Given the description of an element on the screen output the (x, y) to click on. 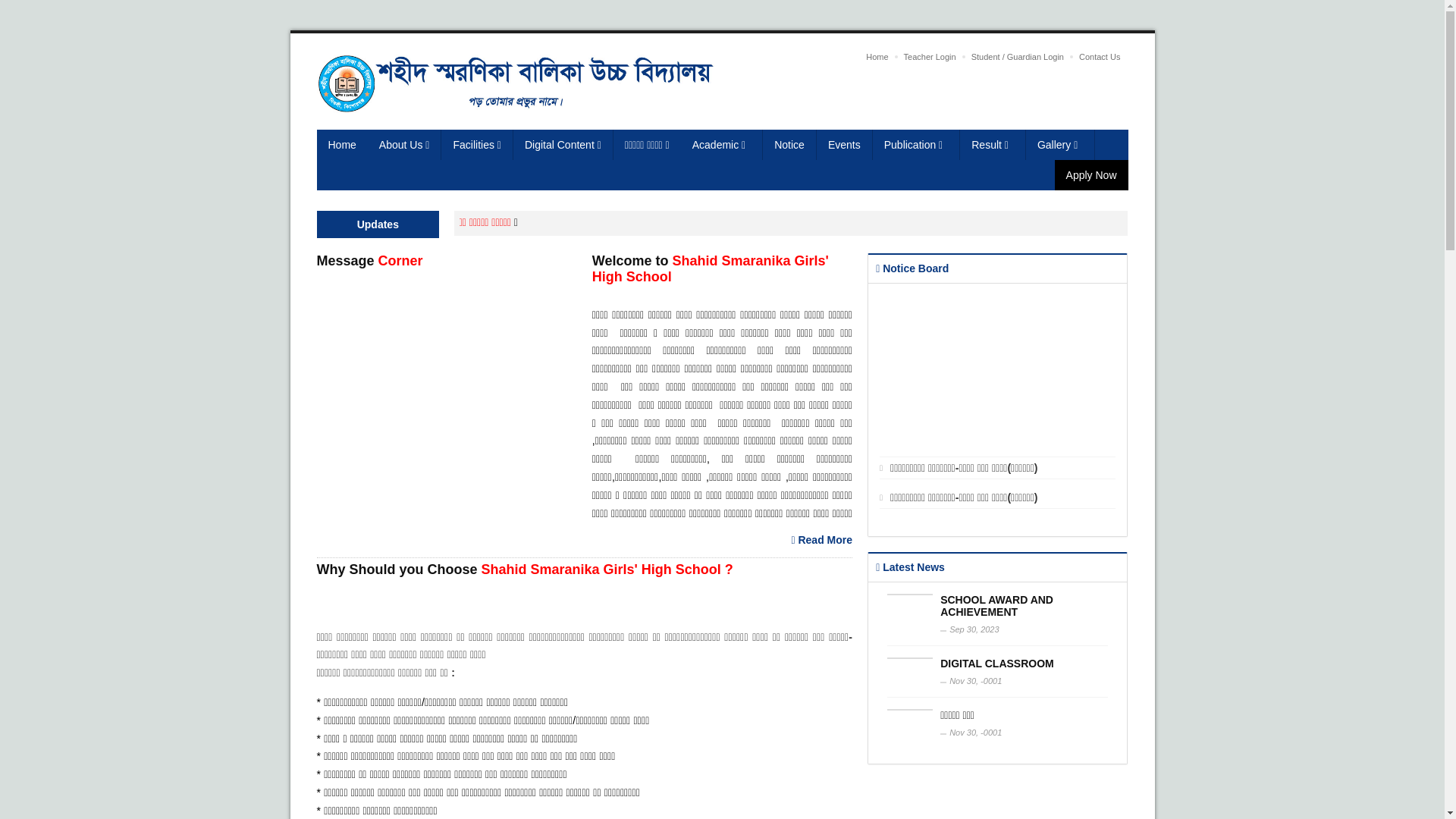
Contact Us Element type: text (1099, 56)
Student / Guardian Login Element type: text (1017, 56)
Academic Element type: text (721, 144)
Publication Element type: text (916, 144)
Teacher Login Element type: text (929, 56)
Notice Element type: text (789, 144)
Events Element type: text (844, 144)
Facilities Element type: text (476, 144)
Result Element type: text (993, 144)
SCHOOL AWARD AND ACHIEVEMENT Element type: text (996, 605)
Digital Content Element type: text (563, 144)
Read More Element type: text (821, 539)
Home Element type: text (341, 144)
About Us Element type: text (404, 144)
Apply Now Element type: text (1091, 175)
Gallery Element type: text (1060, 144)
Home Element type: text (876, 56)
DIGITAL CLASSROOM Element type: text (997, 663)
